Given the description of an element on the screen output the (x, y) to click on. 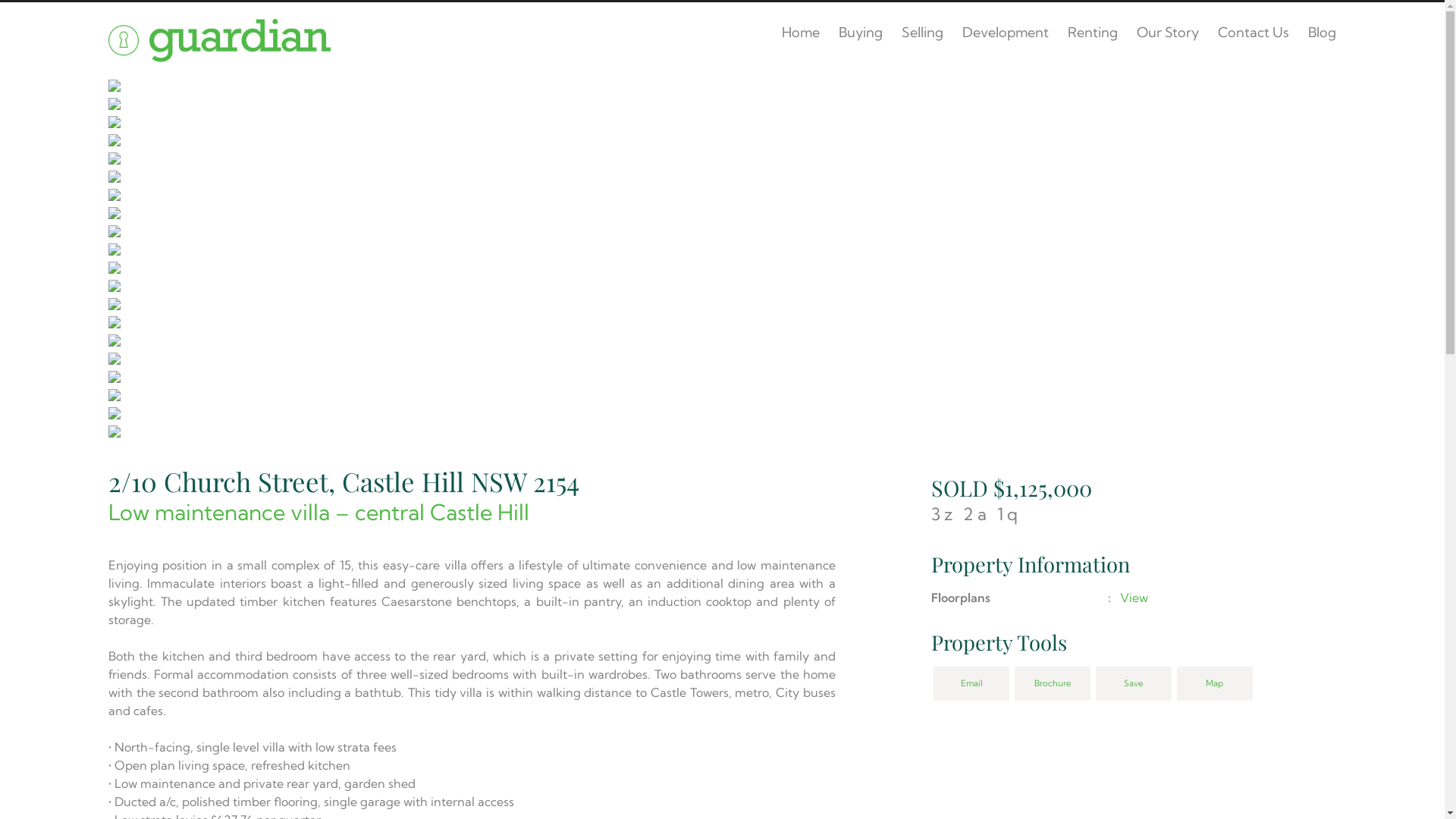
Email Element type: text (971, 683)
Brochure Element type: text (1052, 683)
Contact Us Element type: text (1253, 32)
Development Element type: text (1005, 32)
Map Element type: text (1214, 683)
Buying Element type: text (860, 32)
Save Element type: text (1133, 683)
View Element type: text (1134, 597)
Blog Element type: text (1322, 32)
Our Story Element type: text (1167, 32)
Renting Element type: text (1092, 32)
Home Element type: text (800, 32)
Selling Element type: text (922, 32)
